Given the description of an element on the screen output the (x, y) to click on. 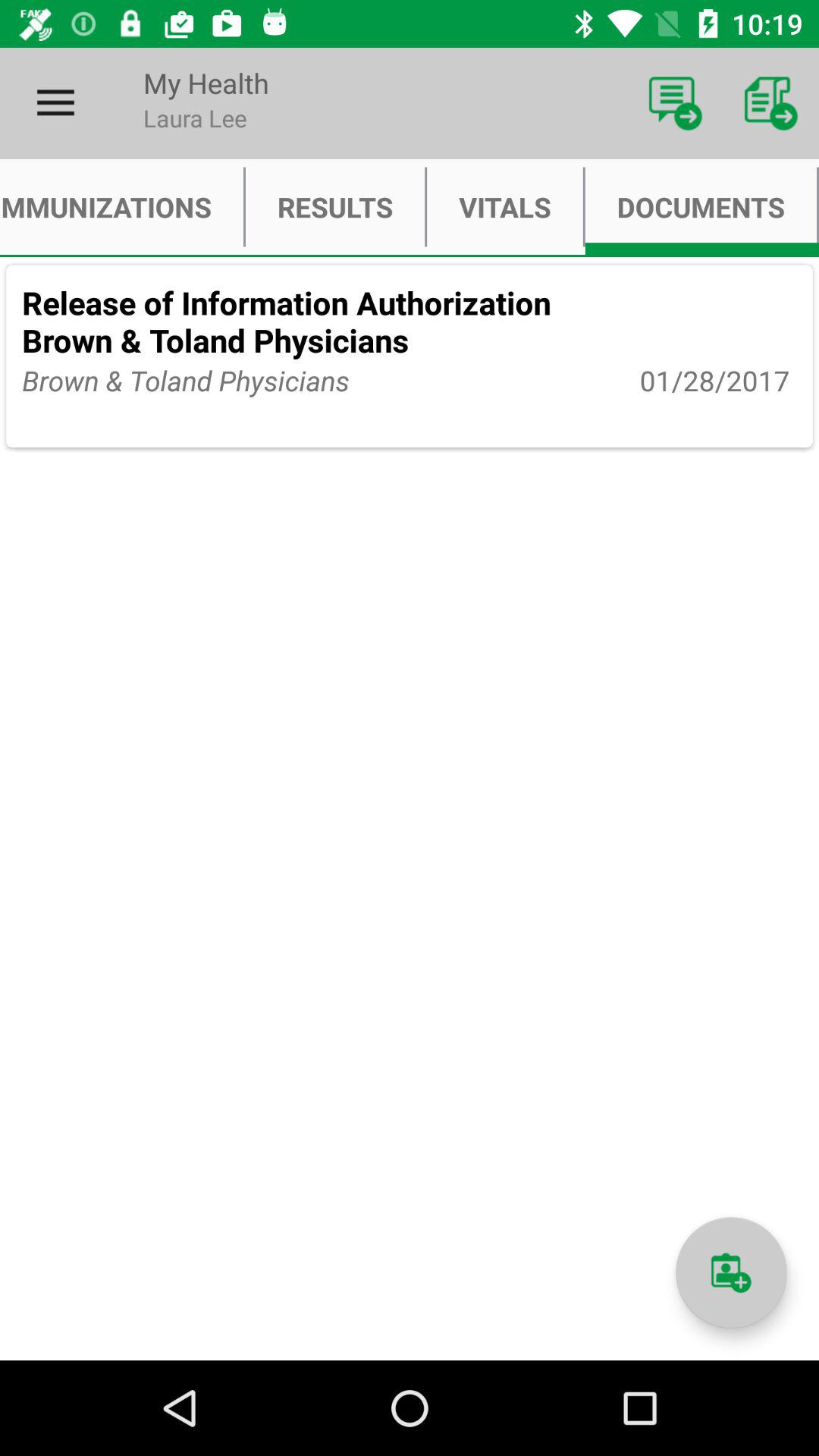
click icon at the bottom right corner (731, 1272)
